Given the description of an element on the screen output the (x, y) to click on. 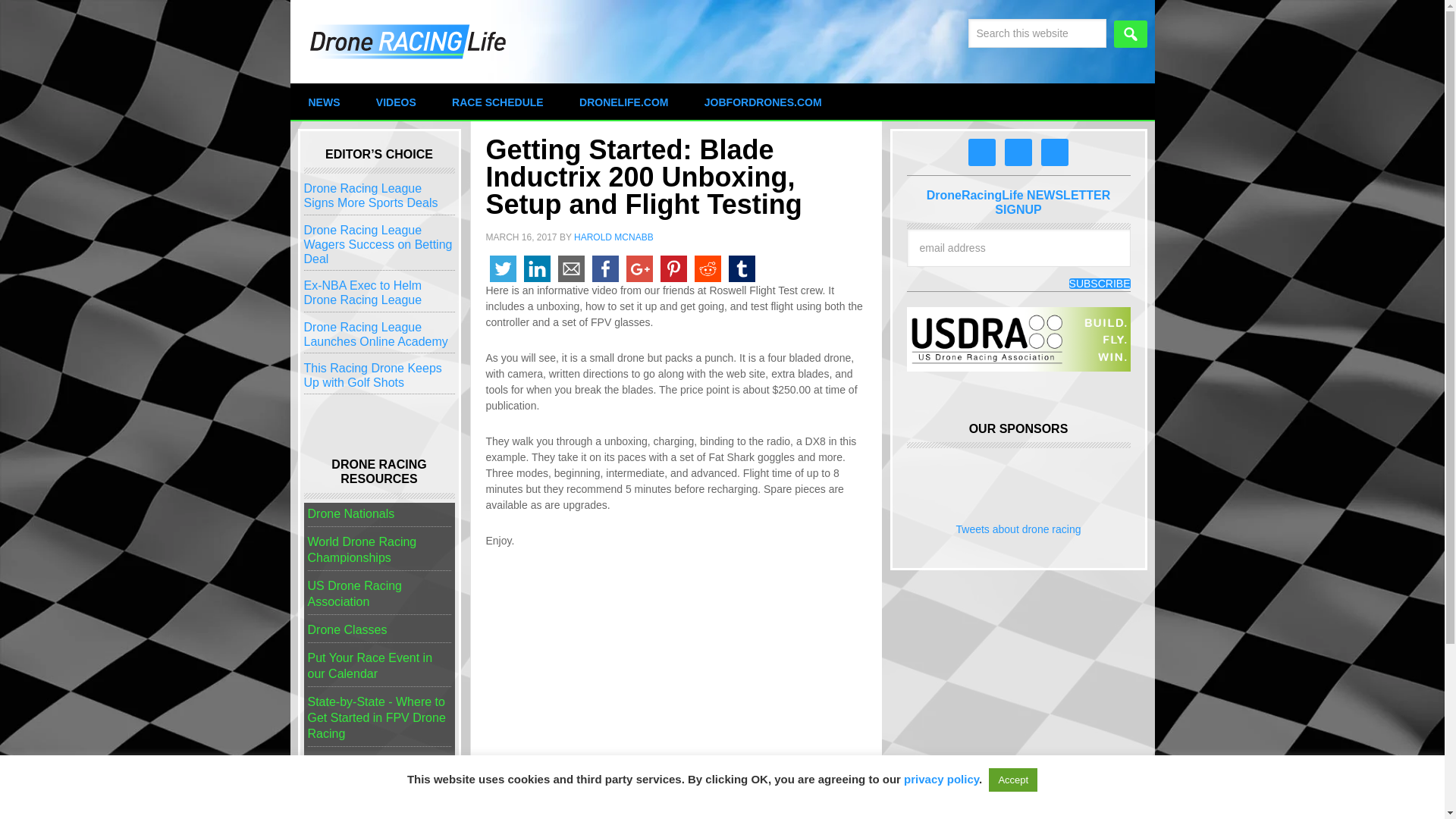
Drone Racing League Wagers Success on Betting Deal (376, 244)
Drone Racing League Launches Online Academy (374, 333)
linkedin (536, 268)
pinterest (673, 268)
Drone Classes (347, 629)
google (638, 268)
email (570, 268)
JOBFORDRONES.COM (762, 102)
RACE SCHEDULE (497, 102)
State-by-State - Where to Get Started in FPV Drone Racing (376, 717)
DRONELIFE.COM (622, 102)
VIDEOS (395, 102)
NEWS (323, 102)
facebook (605, 268)
twitter (501, 268)
